Given the description of an element on the screen output the (x, y) to click on. 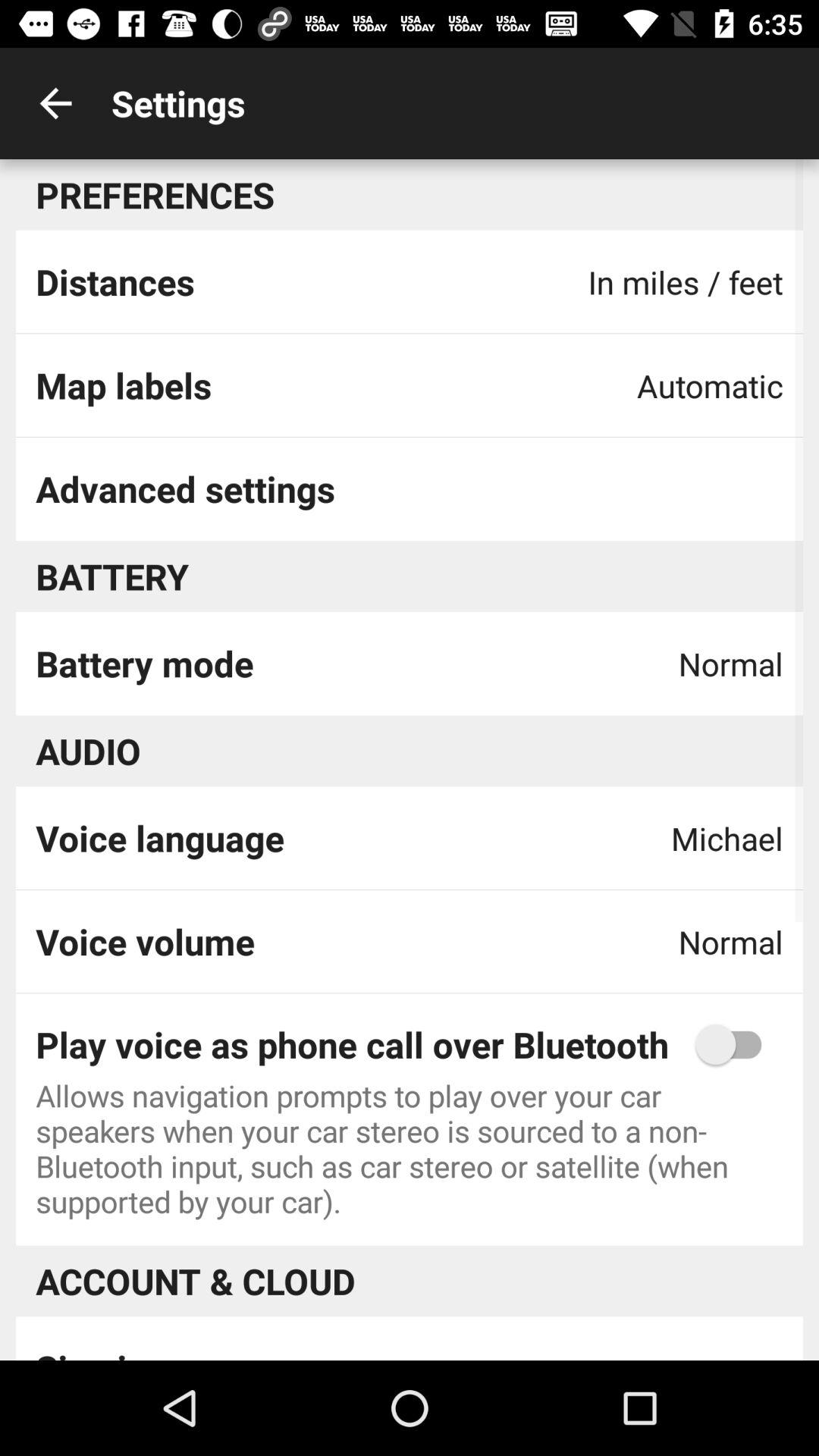
click the icon above the audio item (144, 663)
